Given the description of an element on the screen output the (x, y) to click on. 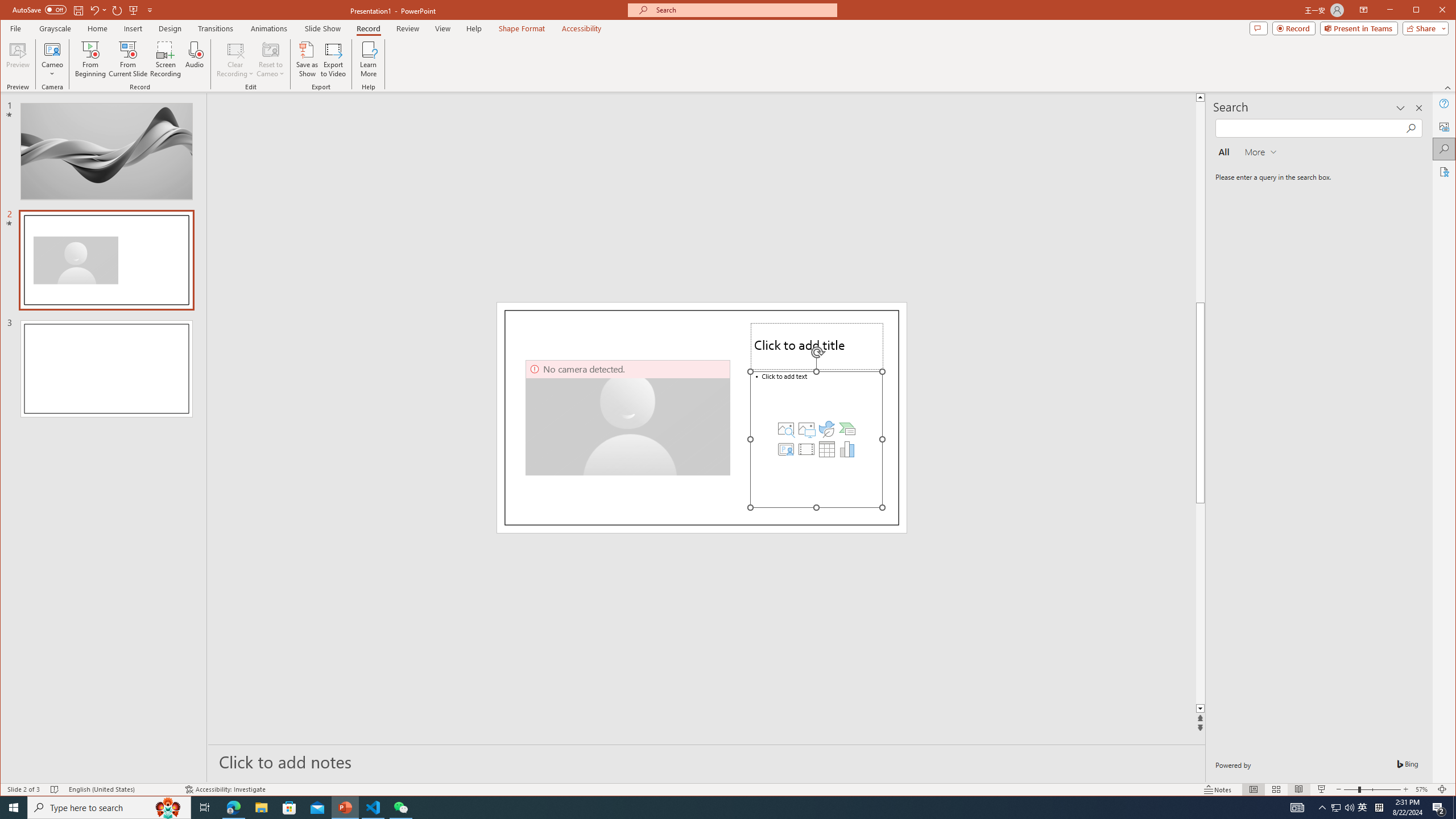
Decorative Locked (701, 417)
Show desktop (1454, 807)
Running applications (707, 807)
Type here to search (108, 807)
Page down (1245, 603)
Screen Recording (165, 59)
Q2790: 100% (1349, 807)
Shape Format (521, 28)
Grayscale (55, 28)
Preview (17, 59)
